Given the description of an element on the screen output the (x, y) to click on. 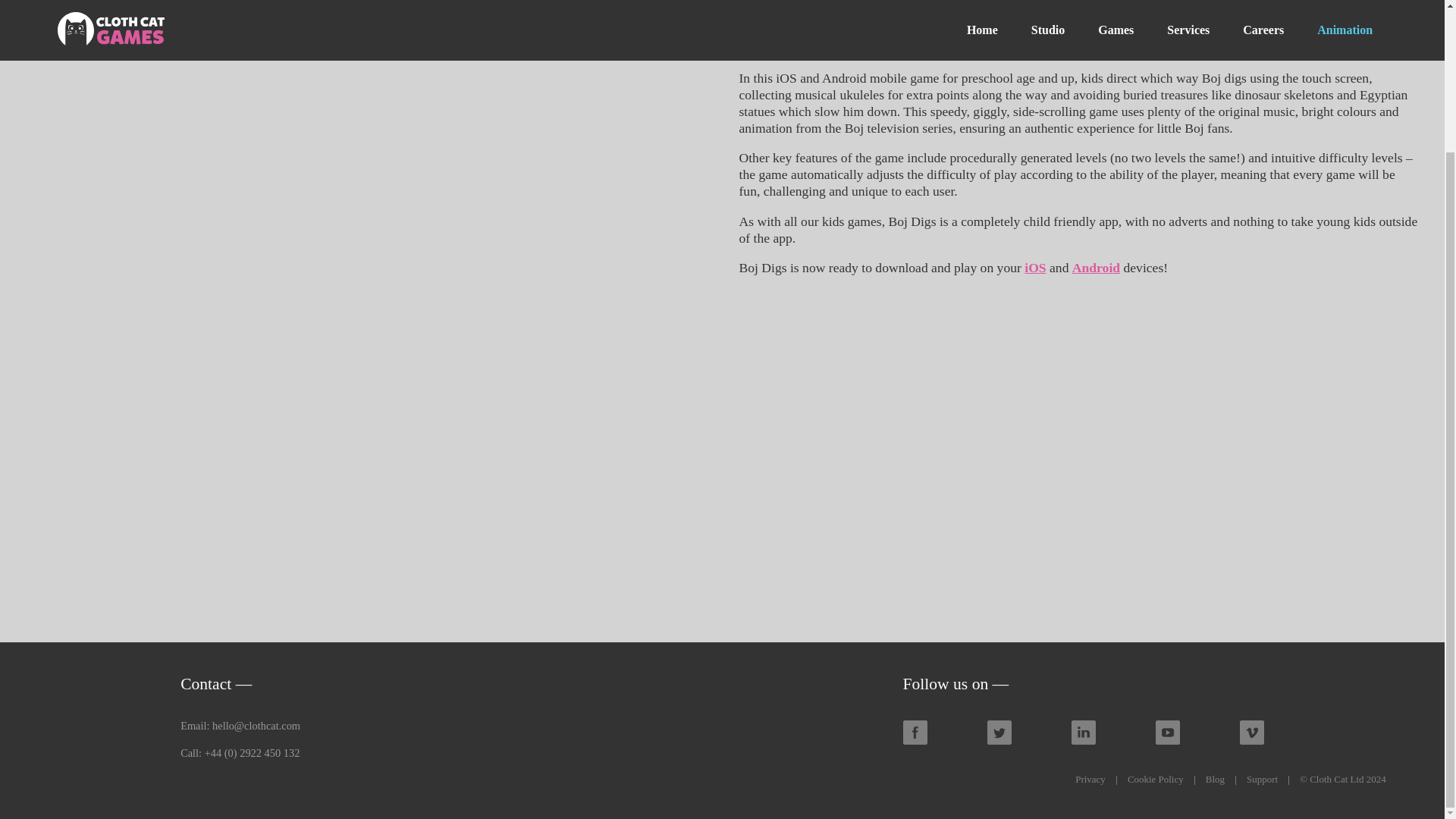
Android (1095, 267)
Blog (1214, 778)
Cookie Policy (1155, 778)
Privacy (1090, 778)
Boj (1115, 4)
iOS (1035, 267)
CBeebies (1243, 30)
Support (1262, 778)
